Given the description of an element on the screen output the (x, y) to click on. 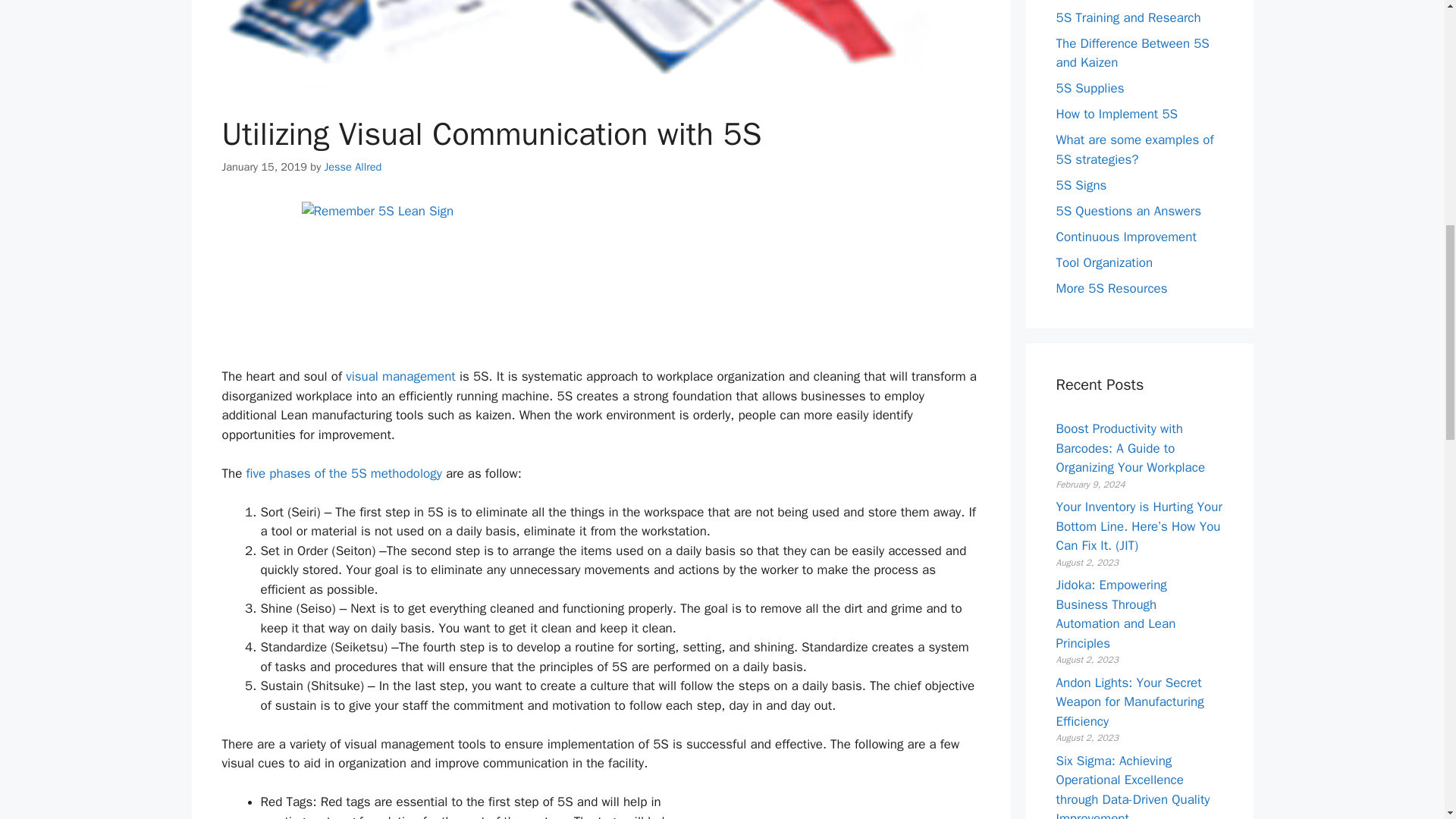
Jesse Allred (352, 166)
visual management (400, 376)
five phases of the 5S methodology (343, 473)
View all posts by Jesse Allred (352, 166)
